Given the description of an element on the screen output the (x, y) to click on. 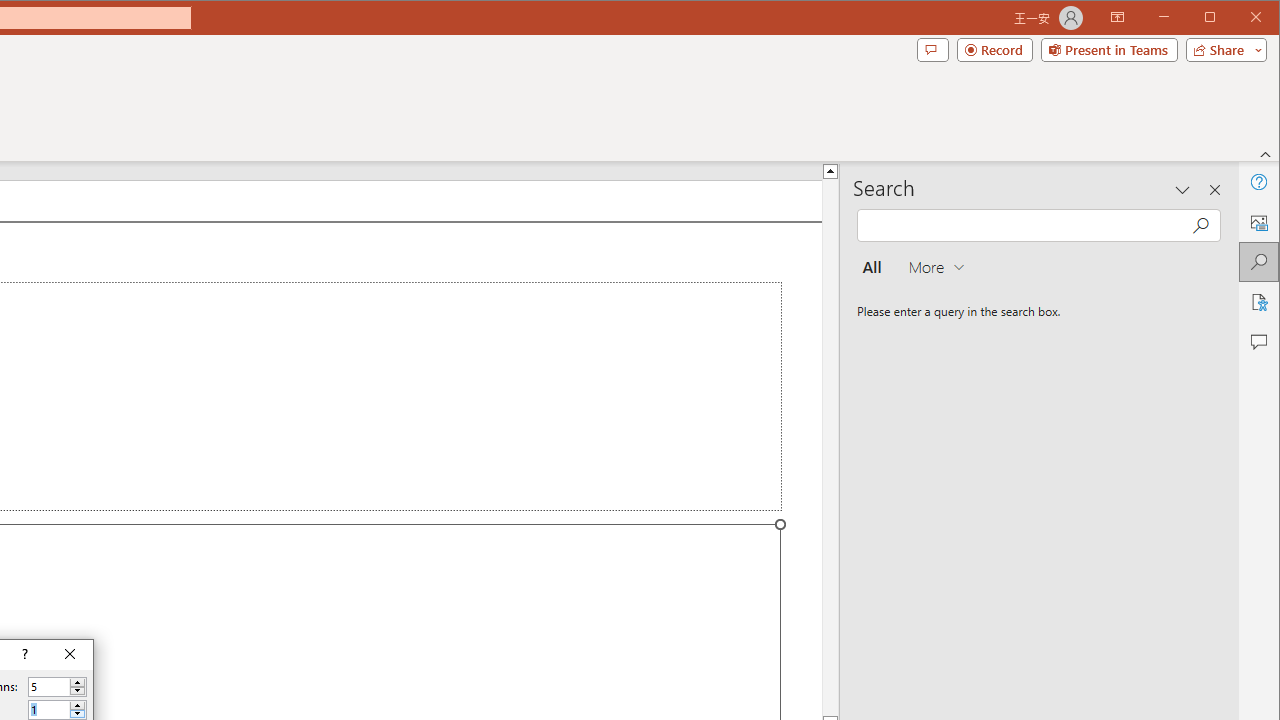
Number of rows (49, 710)
Number of columns (57, 686)
Number of columns (49, 687)
